Given the description of an element on the screen output the (x, y) to click on. 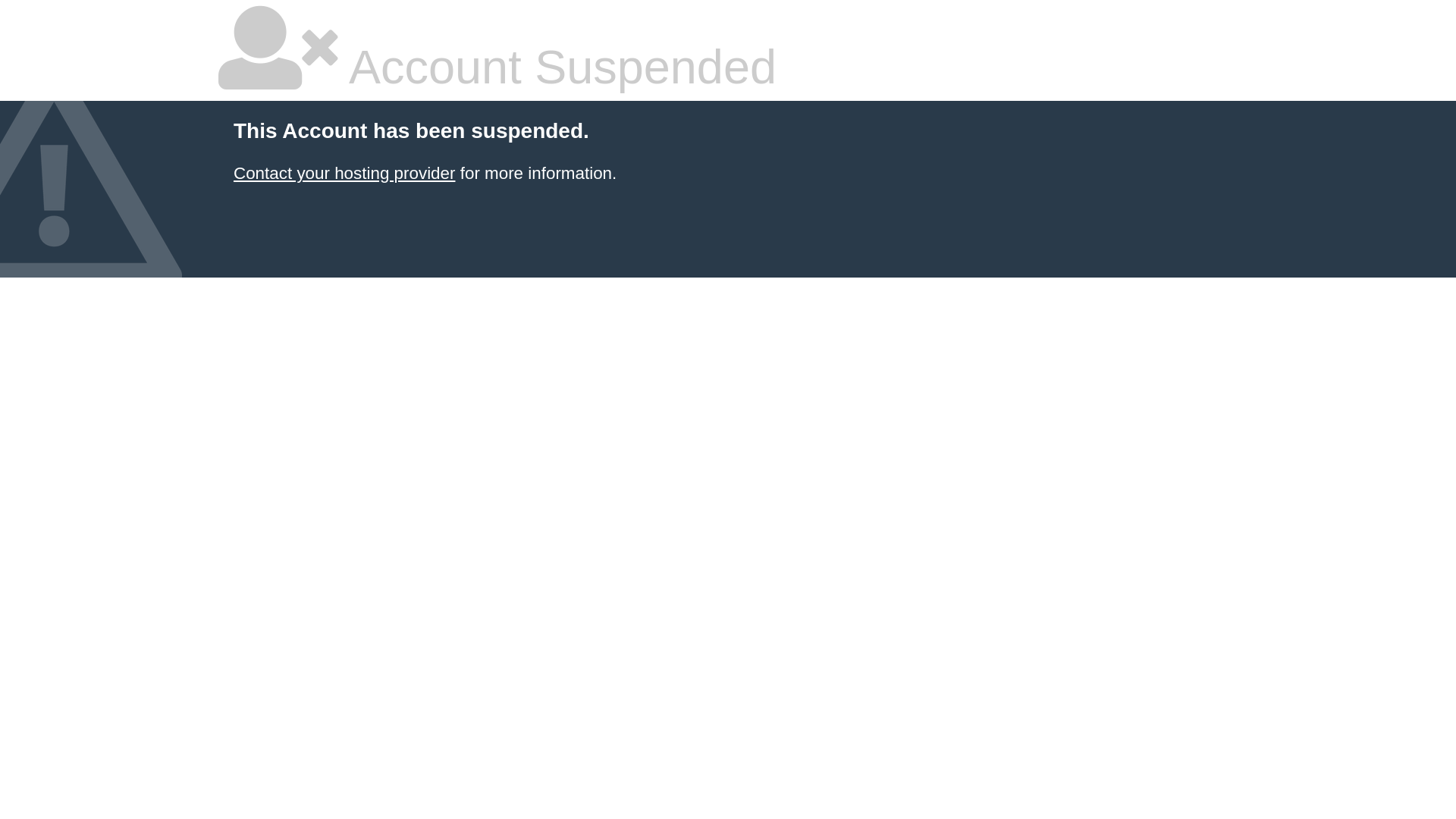
Contact your hosting provider Element type: text (344, 172)
